Given the description of an element on the screen output the (x, y) to click on. 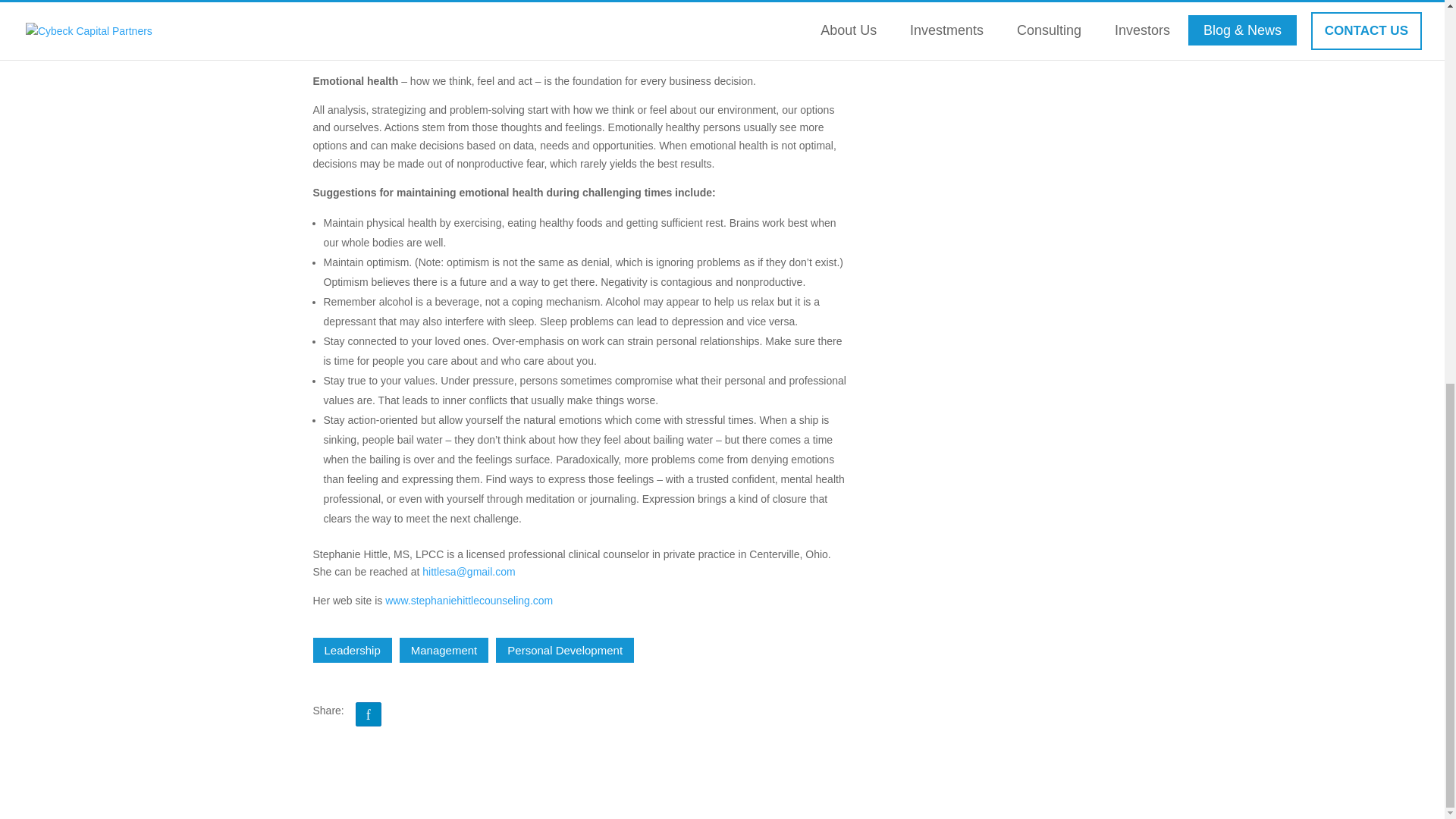
Personal Development (564, 650)
www.stephaniehittlecounseling.com (469, 600)
Cybeck (410, 5)
Leadership (352, 650)
Management (443, 650)
Cybeck (410, 5)
